Given the description of an element on the screen output the (x, y) to click on. 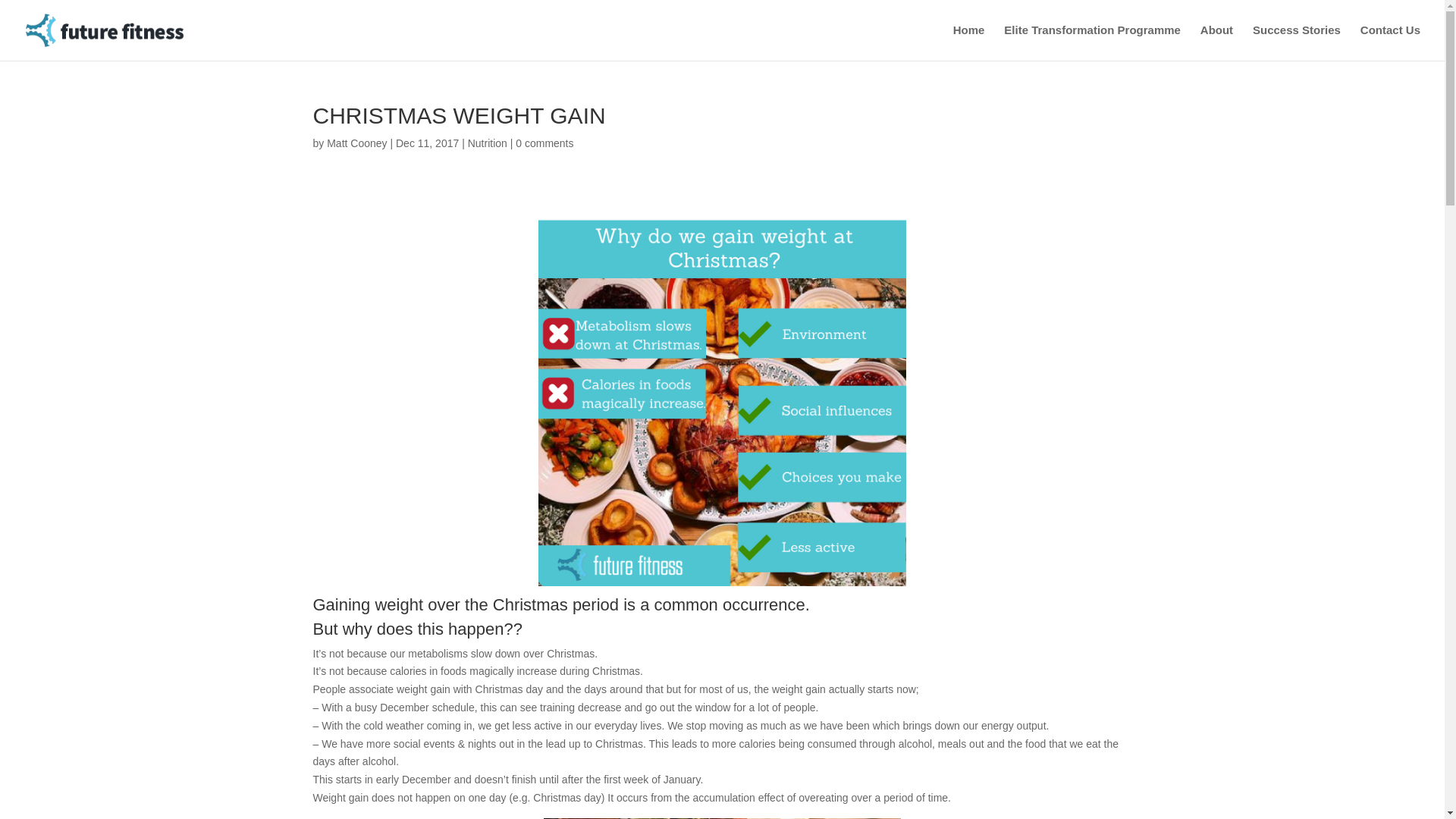
Nutrition (486, 143)
0 comments (544, 143)
Posts by Matt Cooney (356, 143)
Matt Cooney (356, 143)
Contact Us (1390, 42)
Home (969, 42)
Elite Transformation Programme (1092, 42)
About (1216, 42)
Success Stories (1296, 42)
